Given the description of an element on the screen output the (x, y) to click on. 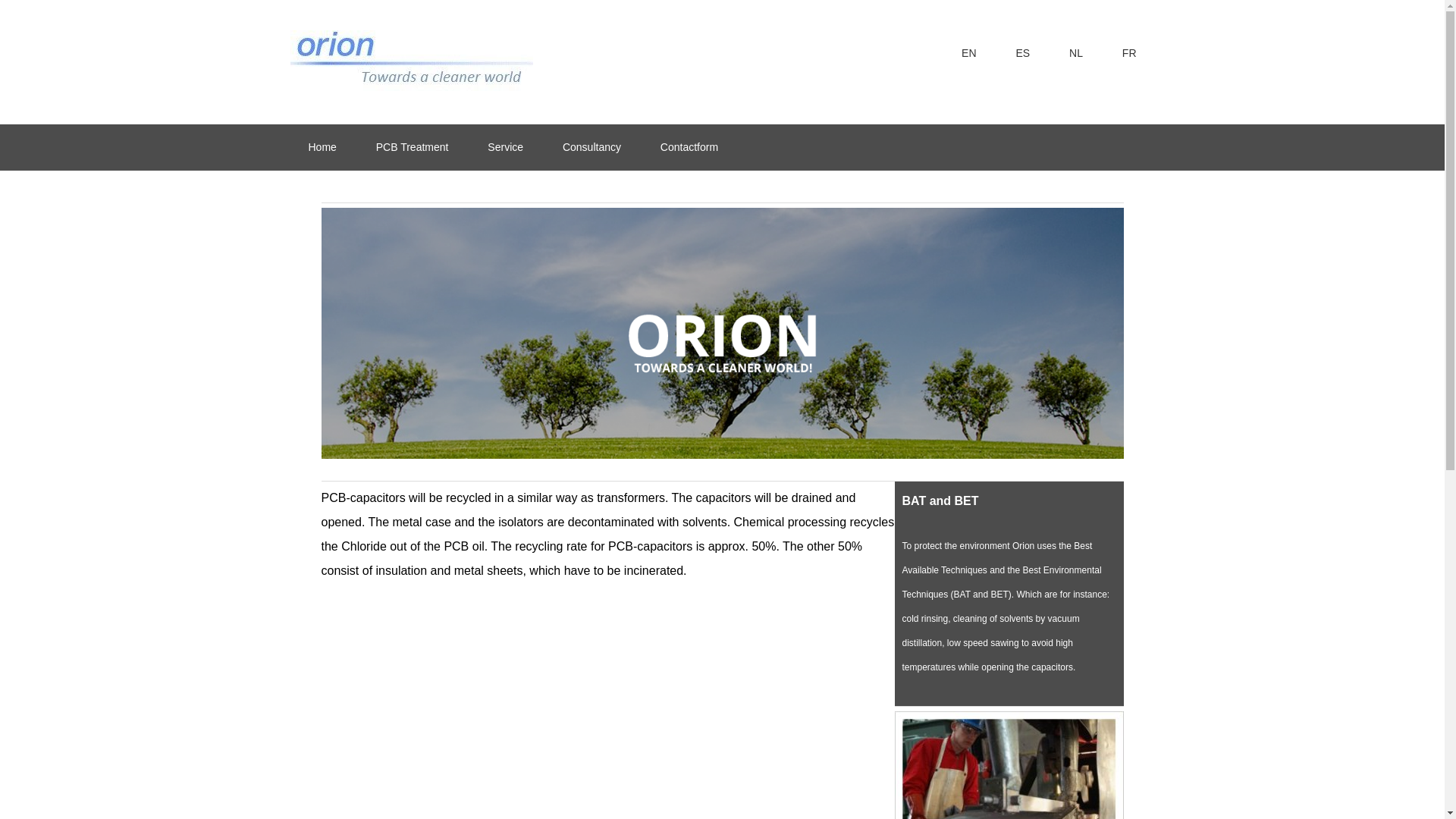
EN (968, 53)
PCB Treatment (412, 147)
Contactform (689, 147)
ES (1022, 53)
Orion (410, 60)
NL (1075, 53)
Service (504, 147)
BAT and BET (1005, 606)
FR (1128, 53)
Home (321, 147)
Consultancy (591, 147)
